Given the description of an element on the screen output the (x, y) to click on. 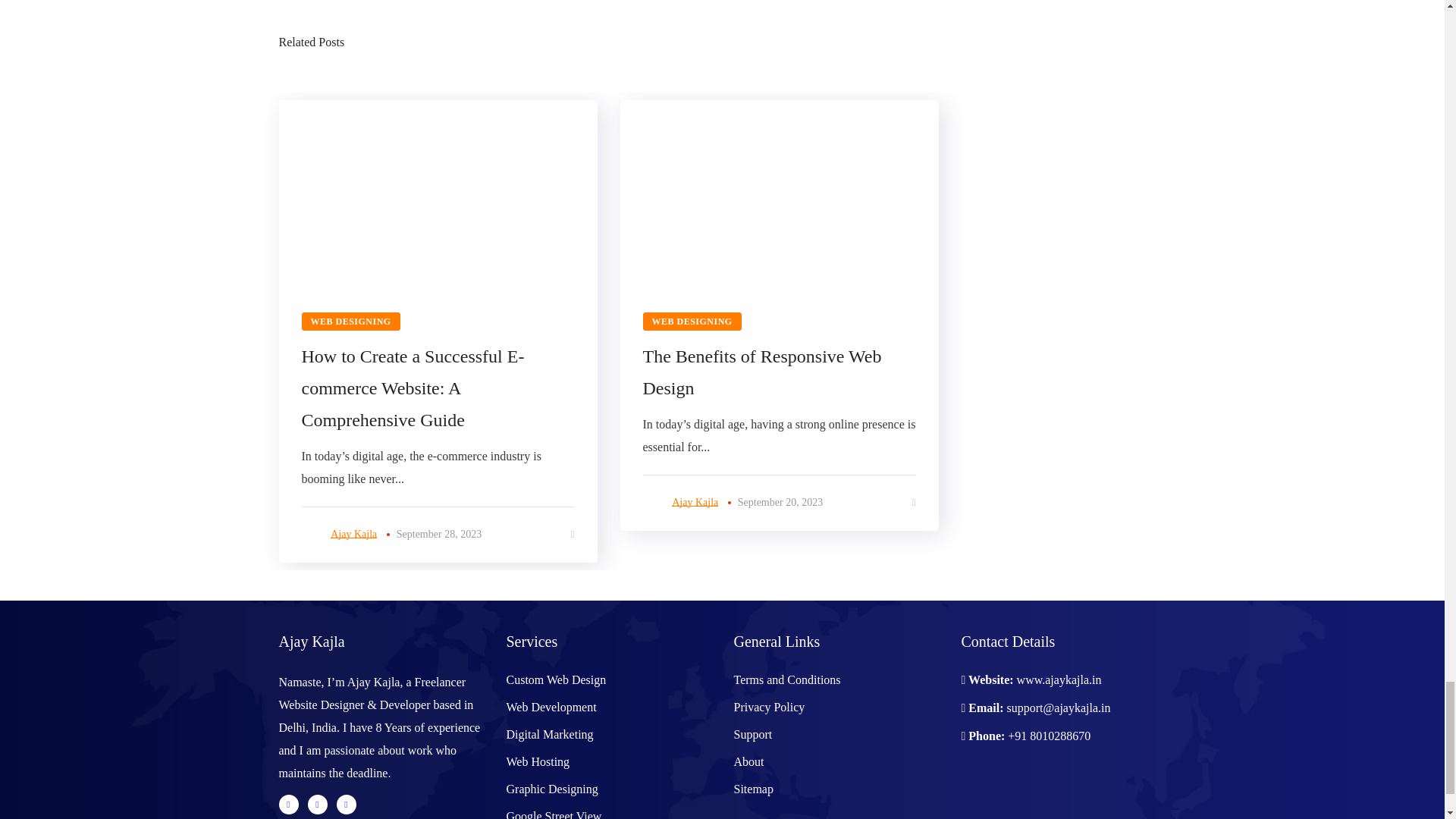
top-quality-seal (1006, 787)
best-choice-seal (1120, 787)
Twitter (288, 804)
Facebook (317, 804)
Instagram (346, 804)
